Given the description of an element on the screen output the (x, y) to click on. 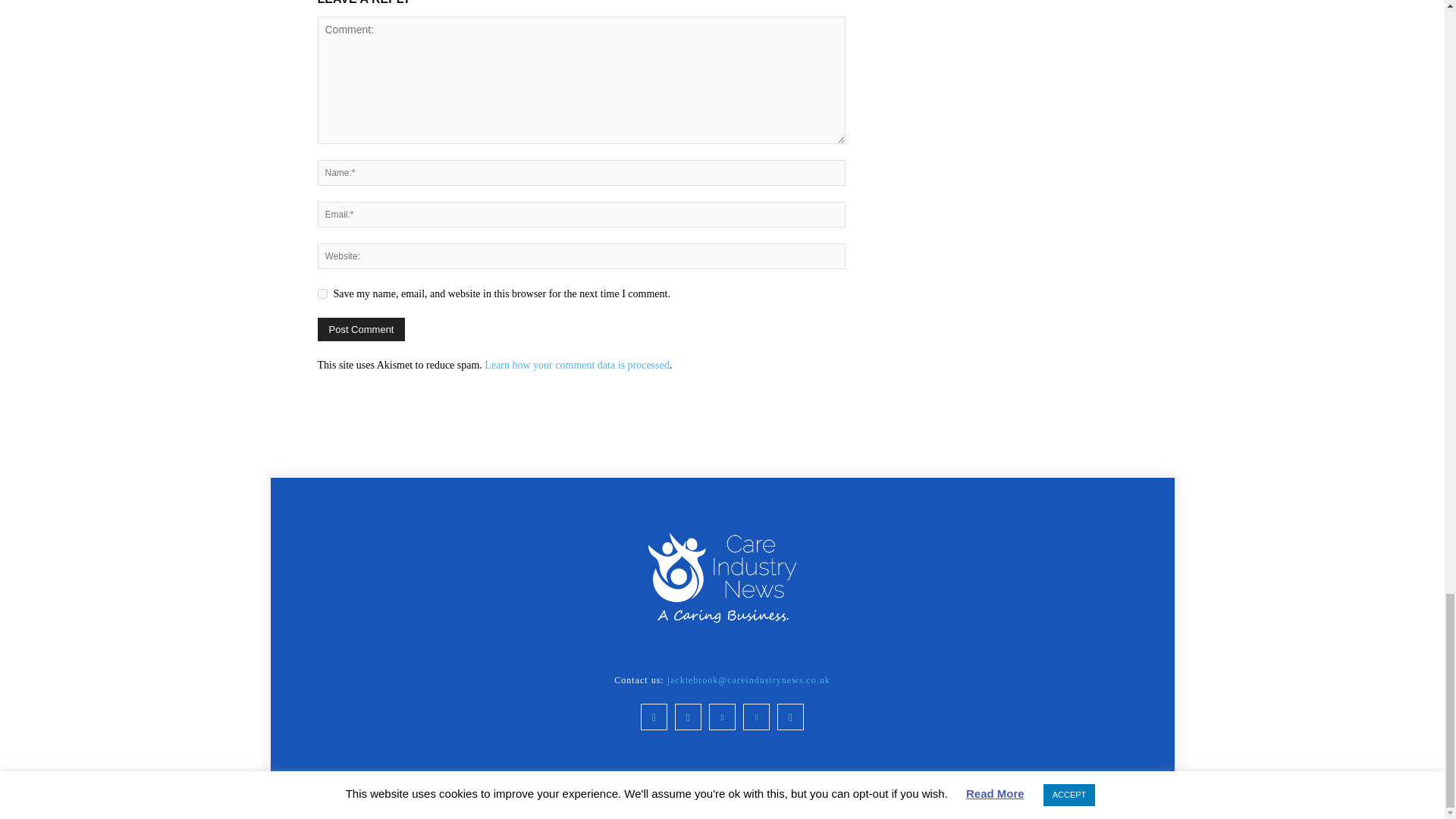
yes (321, 293)
Post Comment (360, 329)
